Given the description of an element on the screen output the (x, y) to click on. 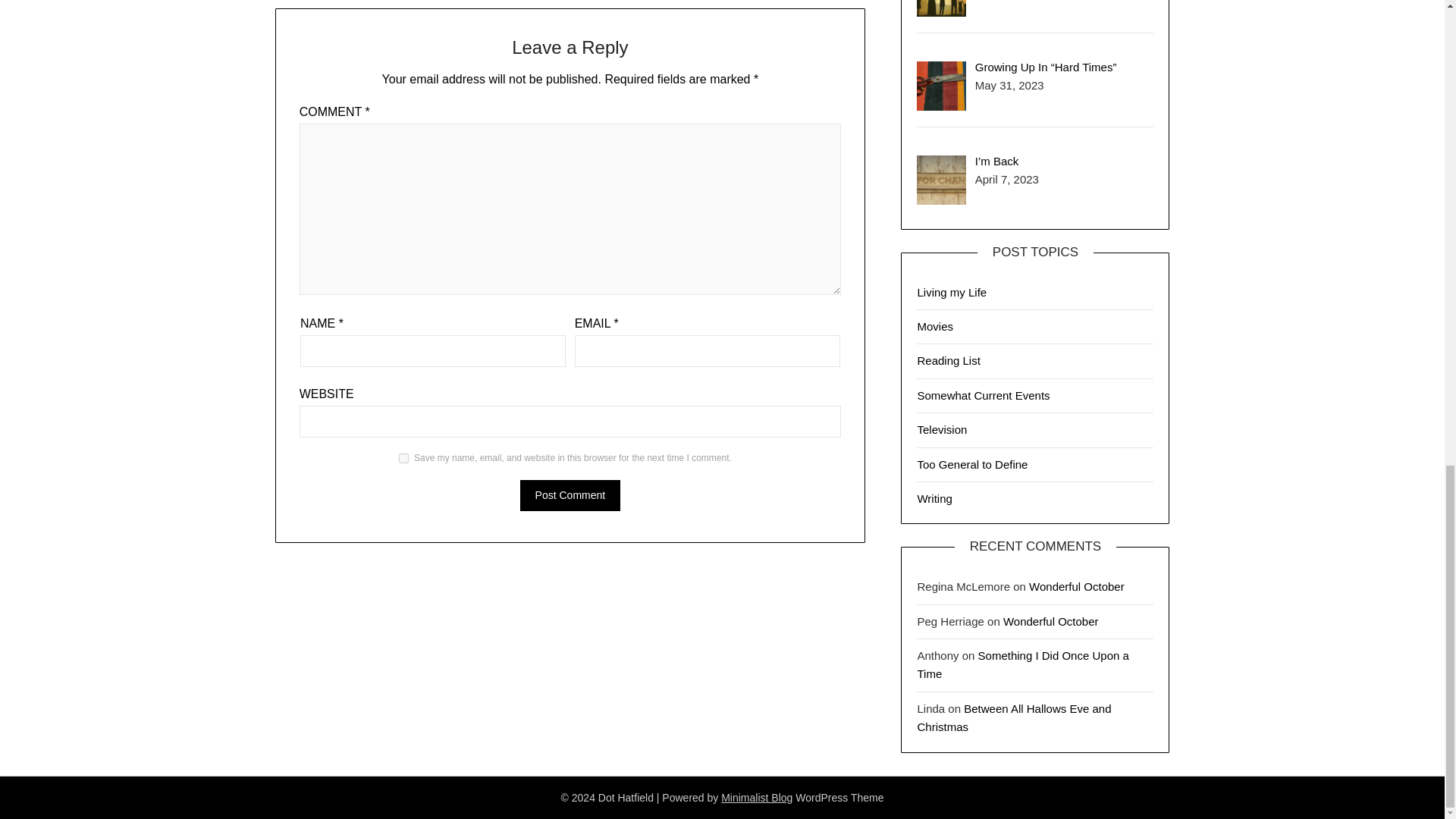
Minimalist Blog (756, 797)
Writing (934, 498)
Living my Life (952, 291)
yes (403, 458)
Too General to Define (972, 463)
Reading List (948, 359)
Between All Hallows Eve and Christmas (1013, 717)
Somewhat Current Events (983, 395)
Something I Did Once Upon a Time (1022, 664)
Post Comment (570, 495)
Post Comment (570, 495)
Movies (935, 326)
Wonderful October (1051, 621)
Television (941, 429)
Wonderful October (1076, 585)
